Given the description of an element on the screen output the (x, y) to click on. 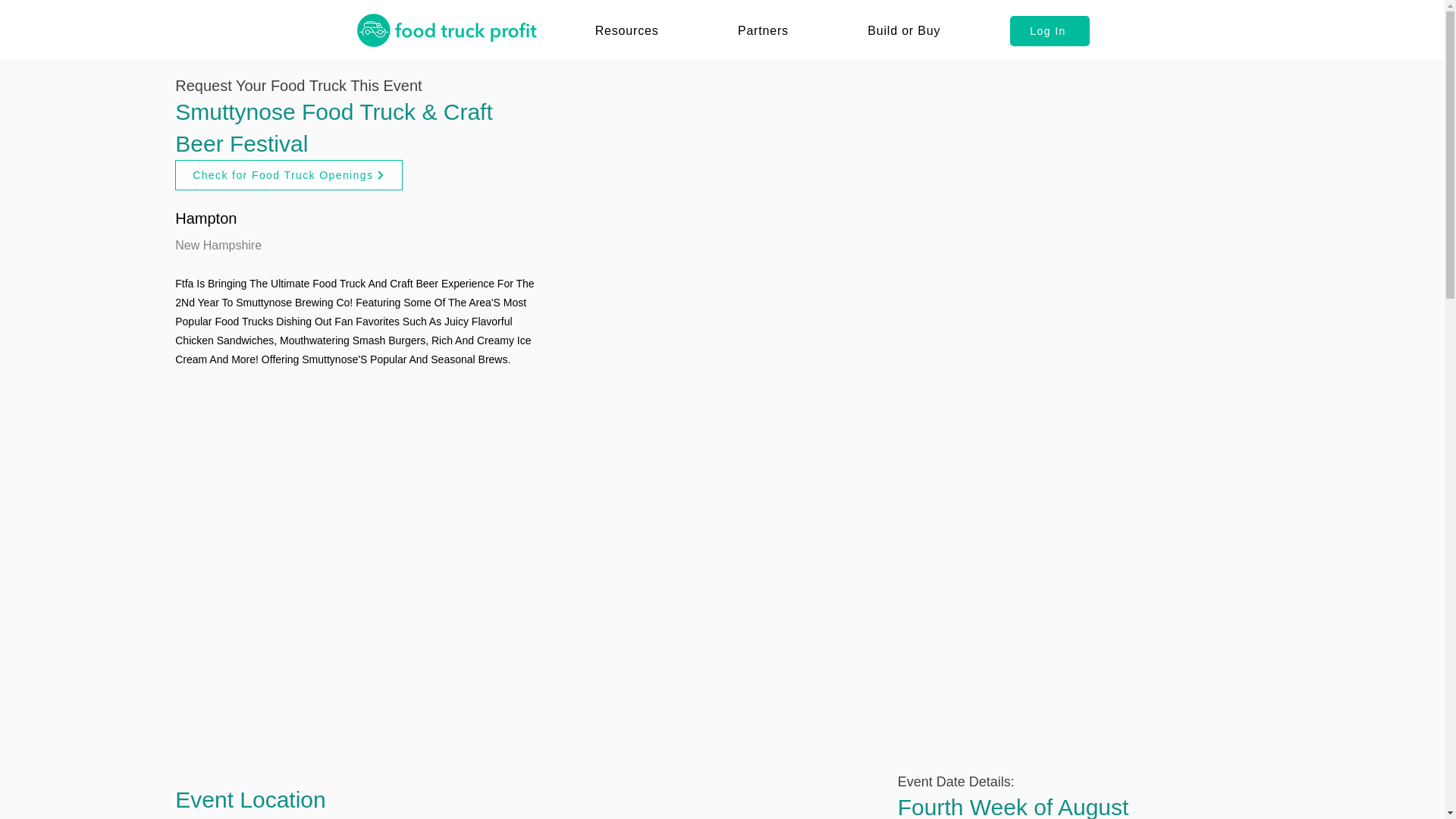
Log In (1049, 30)
Check for Food Truck Openings (288, 174)
